Given the description of an element on the screen output the (x, y) to click on. 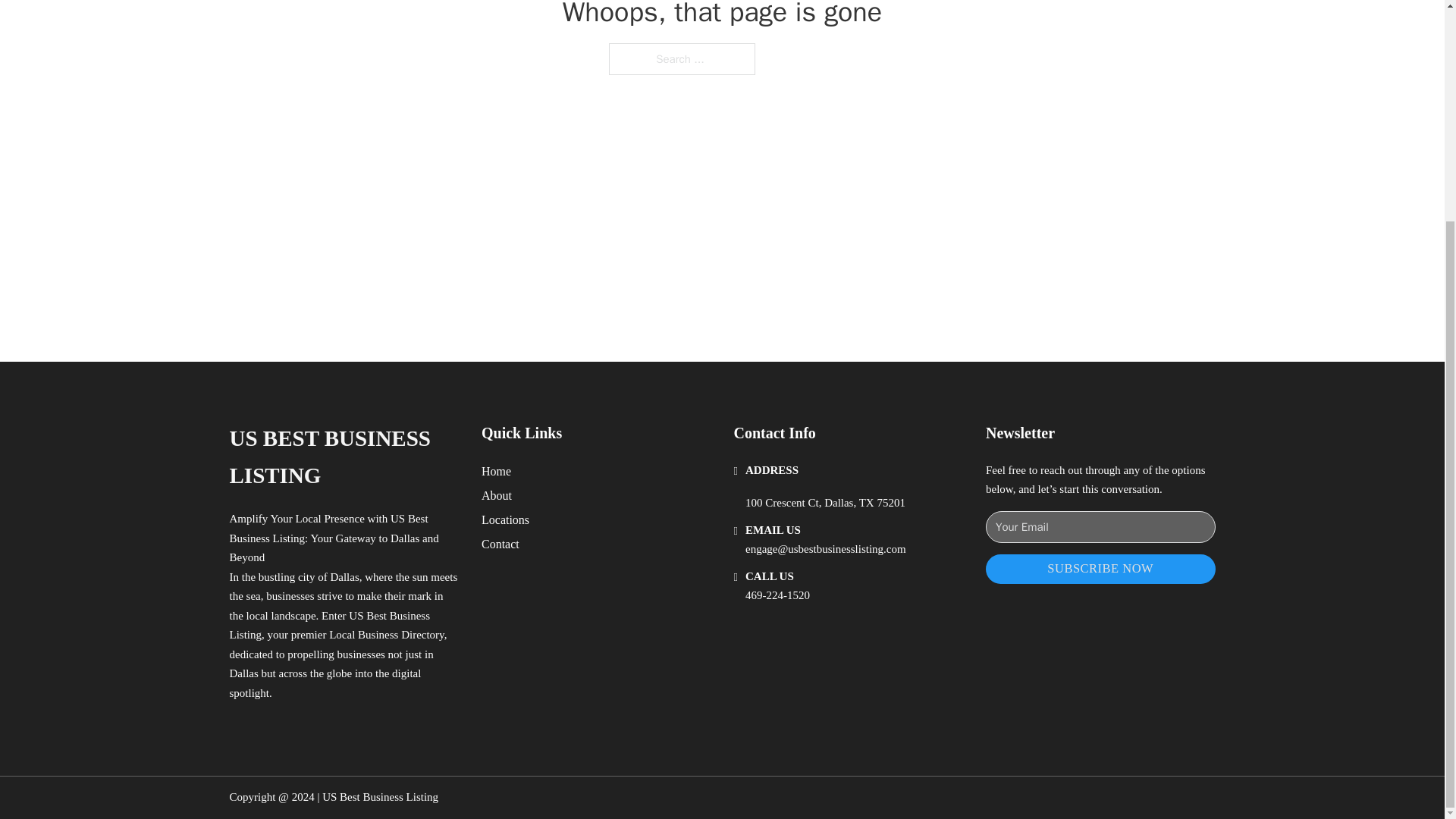
Home (496, 471)
Contact (500, 543)
SUBSCRIBE NOW (1100, 568)
US BEST BUSINESS LISTING (343, 457)
Locations (505, 519)
469-224-1520 (777, 594)
About (496, 495)
